Given the description of an element on the screen output the (x, y) to click on. 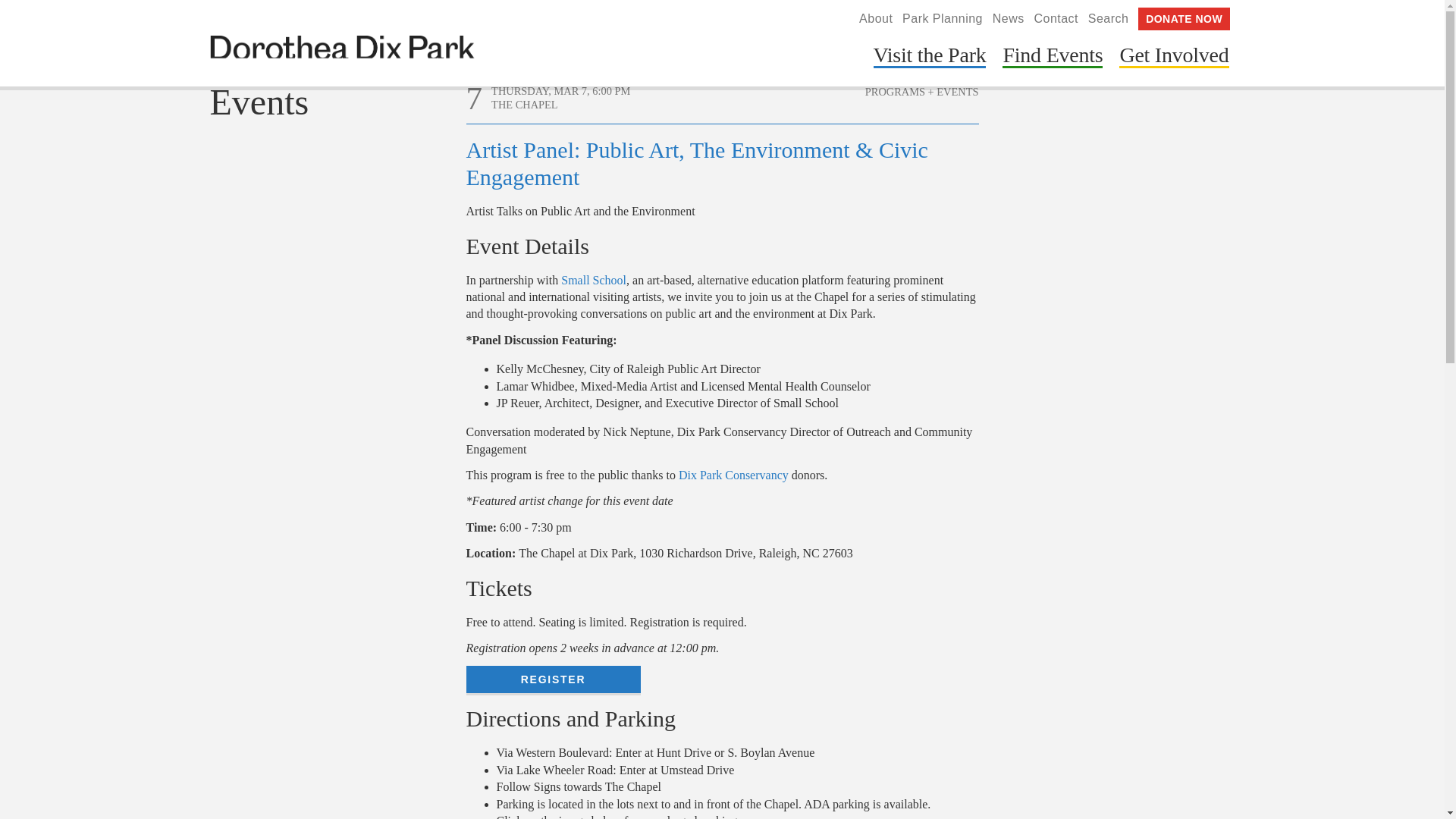
Get Involved (1173, 58)
About (875, 18)
Small School (593, 279)
Dix Park Conservancy (733, 474)
Park Planning (942, 18)
Contact (1055, 18)
News (1008, 18)
Find Events (1052, 58)
Home (341, 55)
Visit the Park (930, 58)
